Given the description of an element on the screen output the (x, y) to click on. 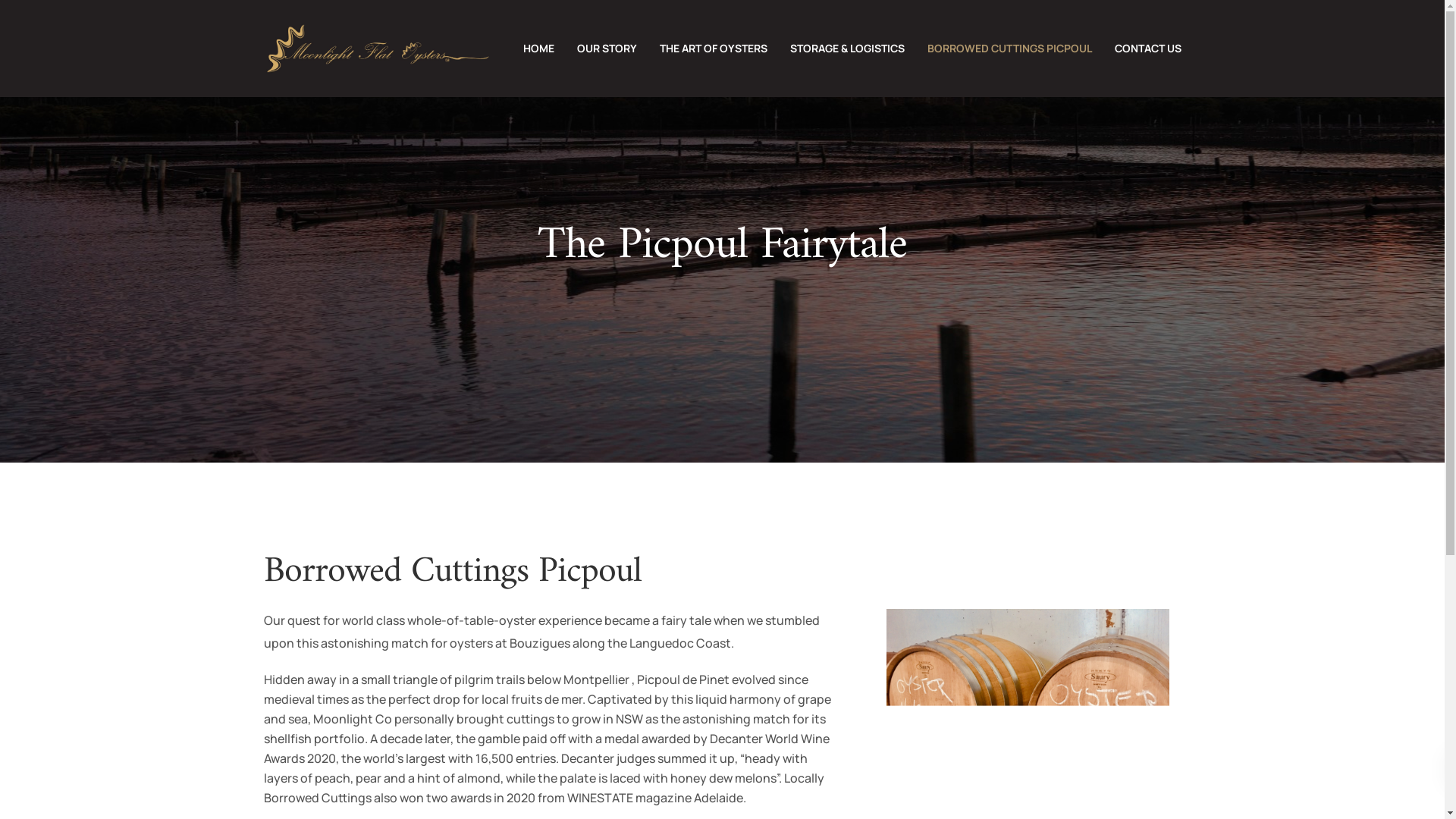
THE ART OF OYSTERS Element type: text (712, 48)
OUR STORY Element type: text (606, 48)
STORAGE & LOGISTICS Element type: text (846, 48)
CONTACT US Element type: text (1147, 48)
HOME Element type: text (537, 48)
BORROWED CUTTINGS PICPOUL Element type: text (1009, 48)
